Given the description of an element on the screen output the (x, y) to click on. 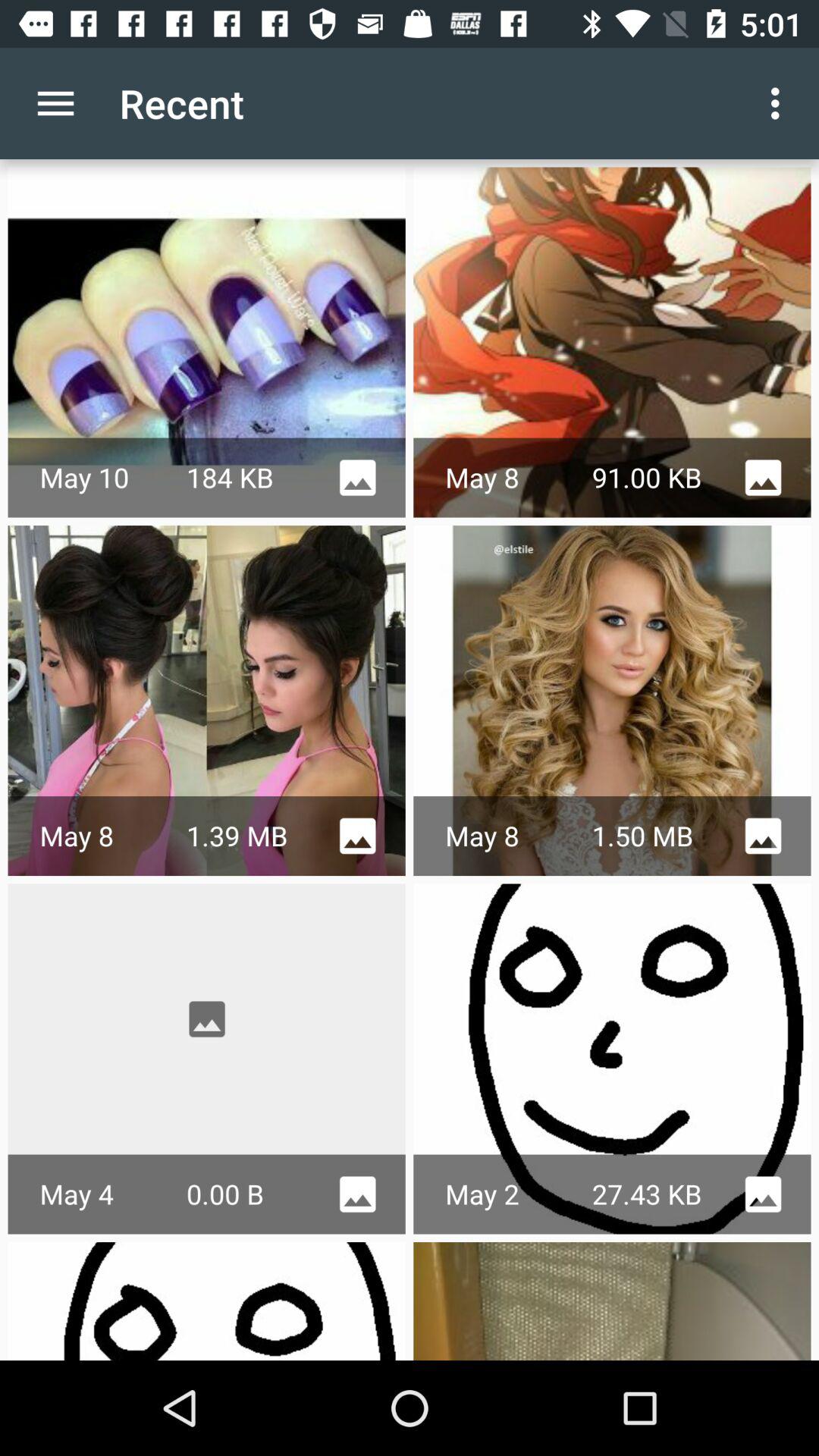
open icon next to recent item (779, 103)
